Given the description of an element on the screen output the (x, y) to click on. 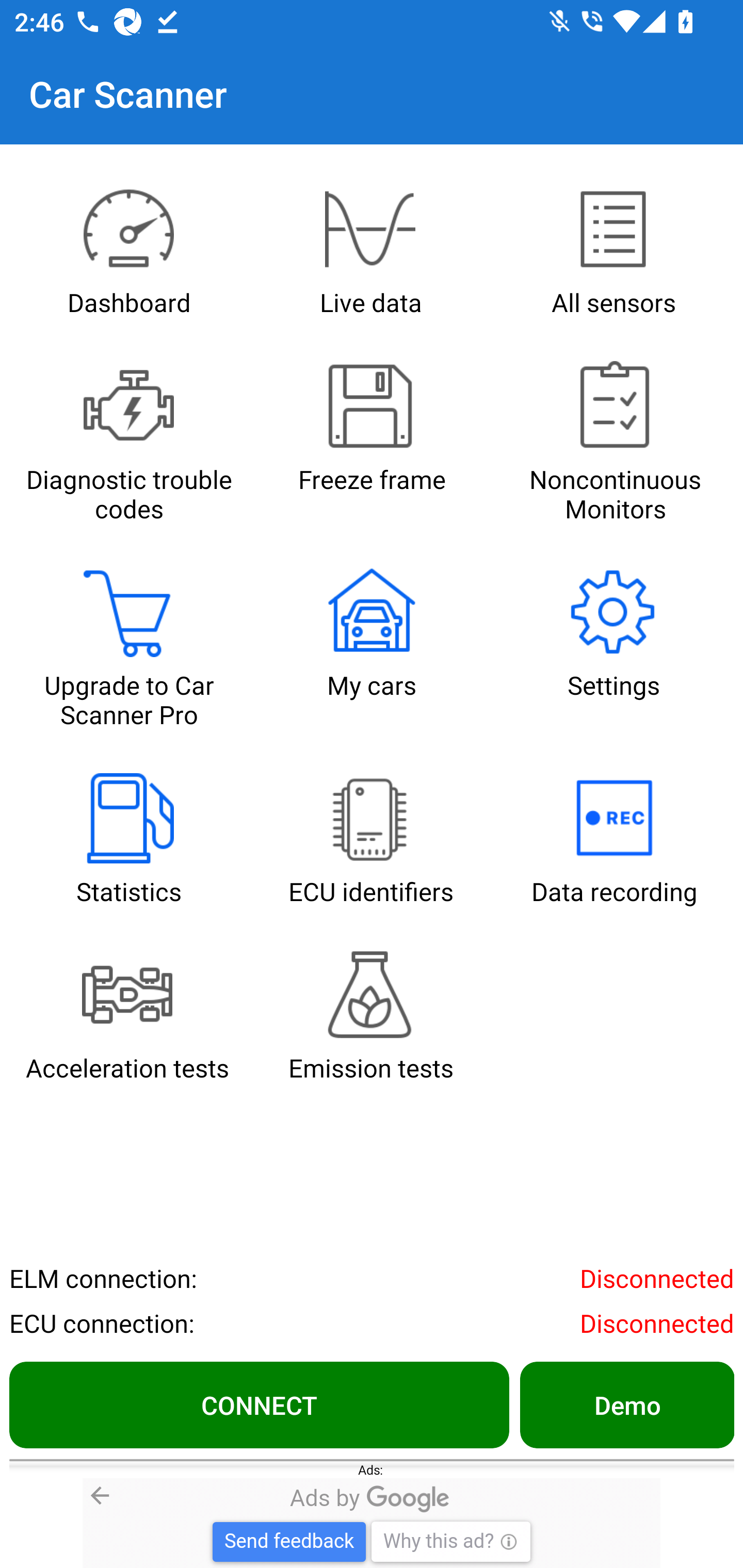
CONNECT (258, 1404)
Demo (627, 1404)
